Given the description of an element on the screen output the (x, y) to click on. 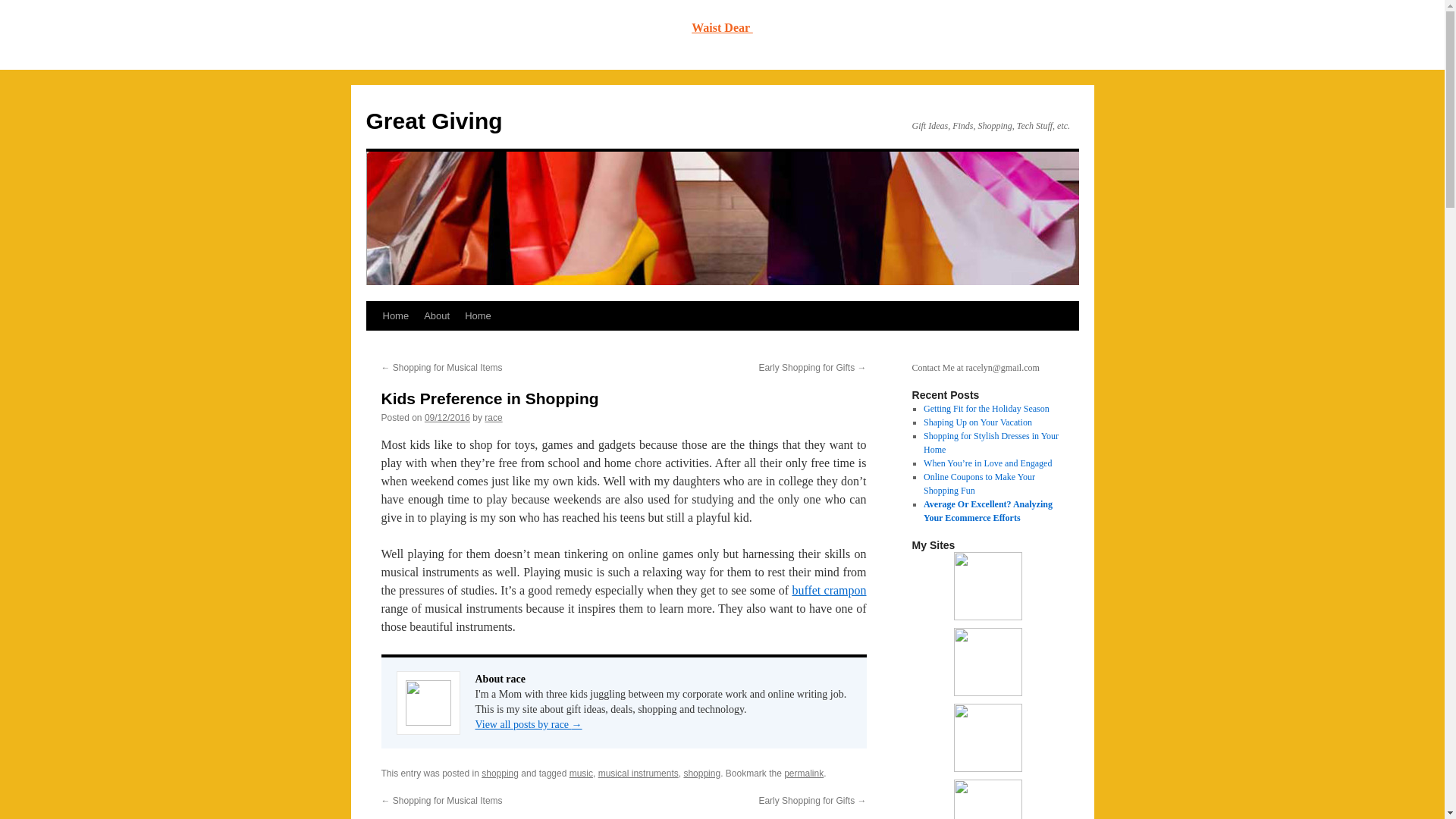
View all posts by race (493, 417)
About (436, 316)
Online Coupons to Make Your Shopping Fun (979, 483)
shopping (499, 773)
race (493, 417)
Home (395, 316)
musical instruments (638, 773)
Shaping Up on Your Vacation (977, 421)
buffet crampon (829, 590)
Permalink to Kids Preference in Shopping (804, 773)
